Given the description of an element on the screen output the (x, y) to click on. 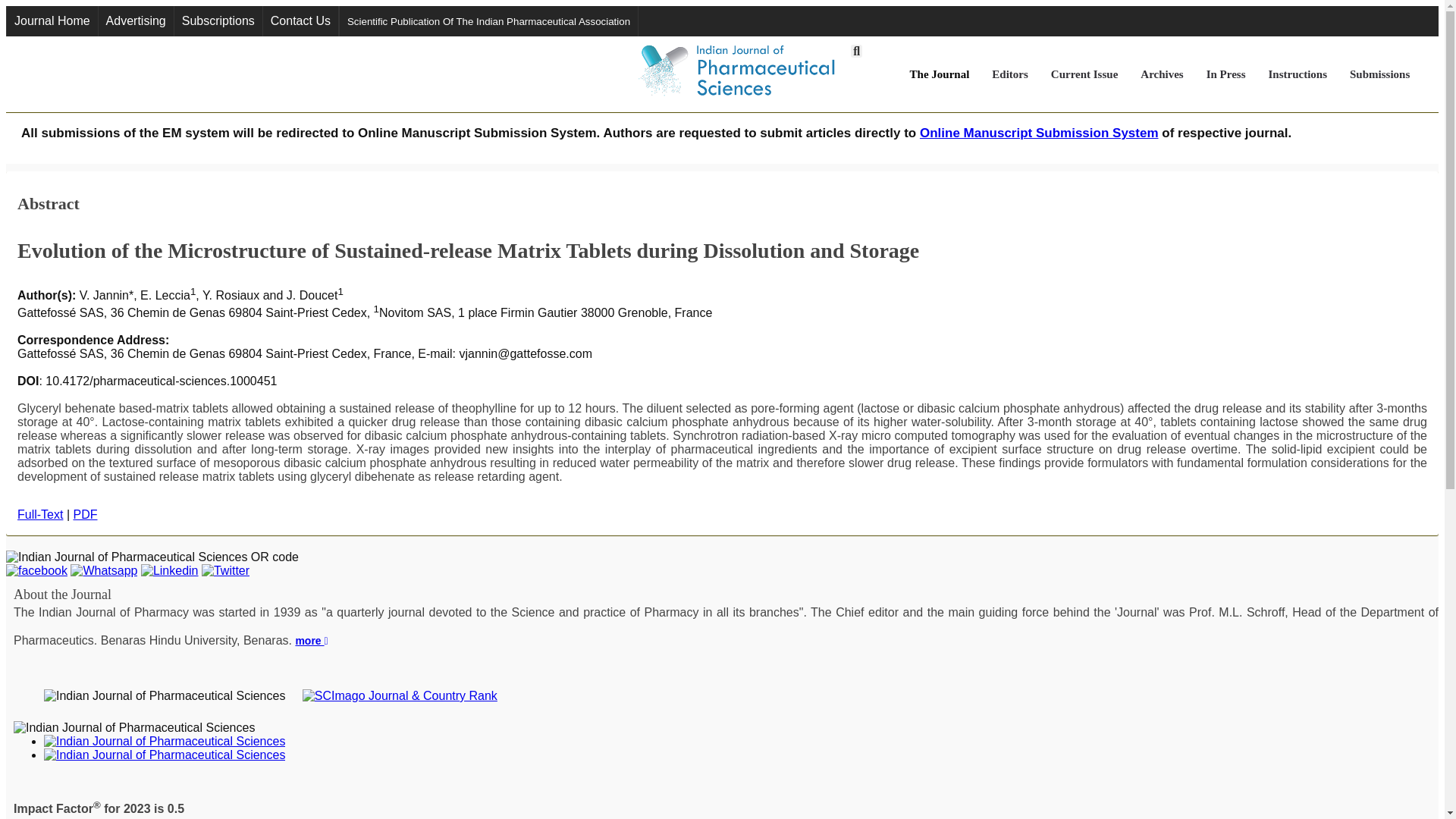
Instructions (1297, 74)
Archives (1161, 74)
Full-Text (39, 513)
Contact Us (300, 20)
Full-Text (39, 513)
Inpress (1226, 74)
PDF (84, 513)
Online Manuscript Submission System (1039, 133)
In Press (1226, 74)
The Journal (939, 74)
Archives (1161, 74)
PDF (84, 513)
Journal Home (52, 20)
Online Submission (1379, 74)
QR (151, 557)
